Given the description of an element on the screen output the (x, y) to click on. 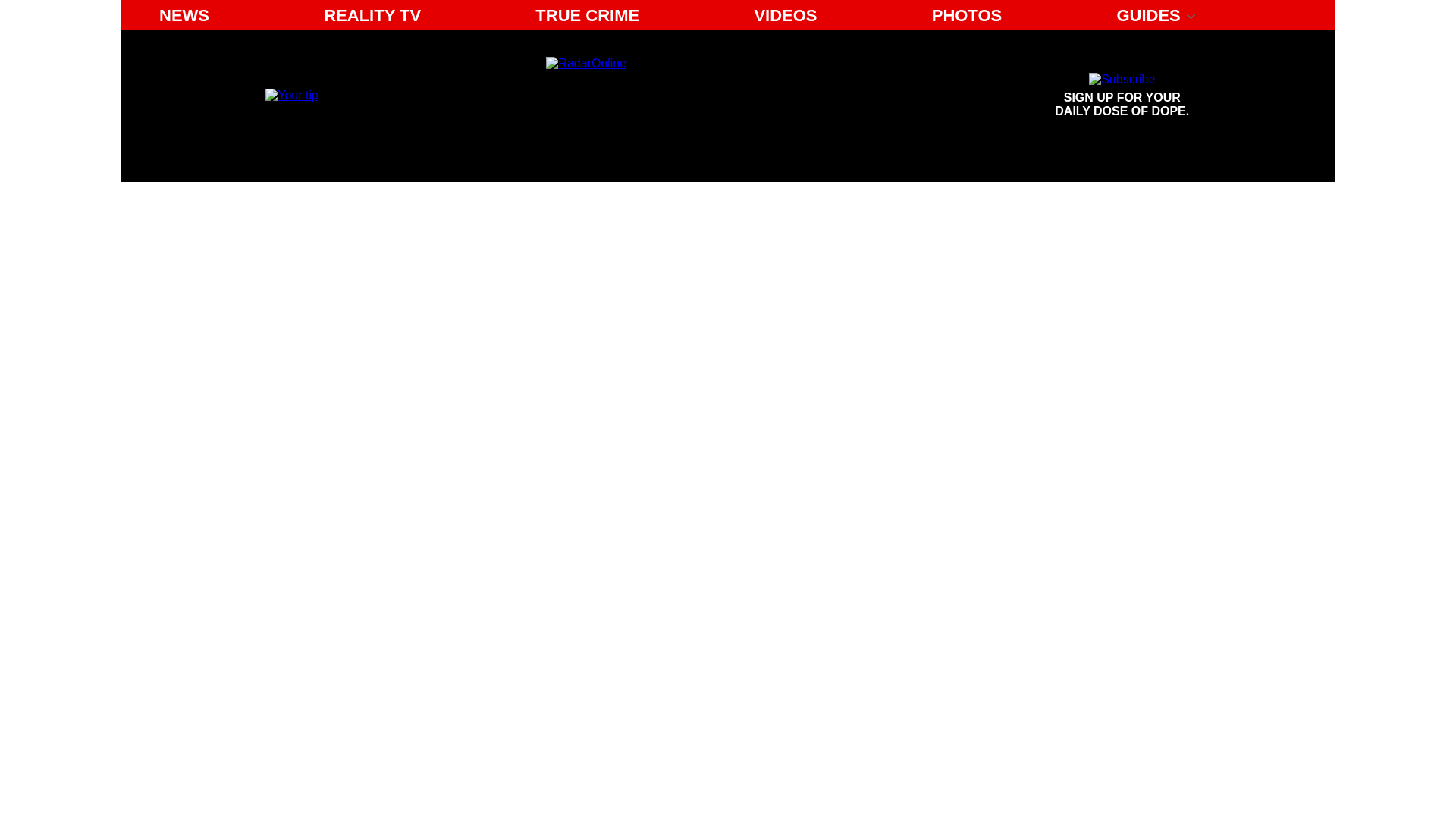
REALITY TV (371, 15)
Radar Online (685, 95)
TRUE CRIME (586, 15)
Email us your tip (291, 94)
NEWS (183, 15)
Sign up for your daily dose of dope. (1122, 94)
PHOTOS (967, 15)
VIDEOS (1122, 94)
